Given the description of an element on the screen output the (x, y) to click on. 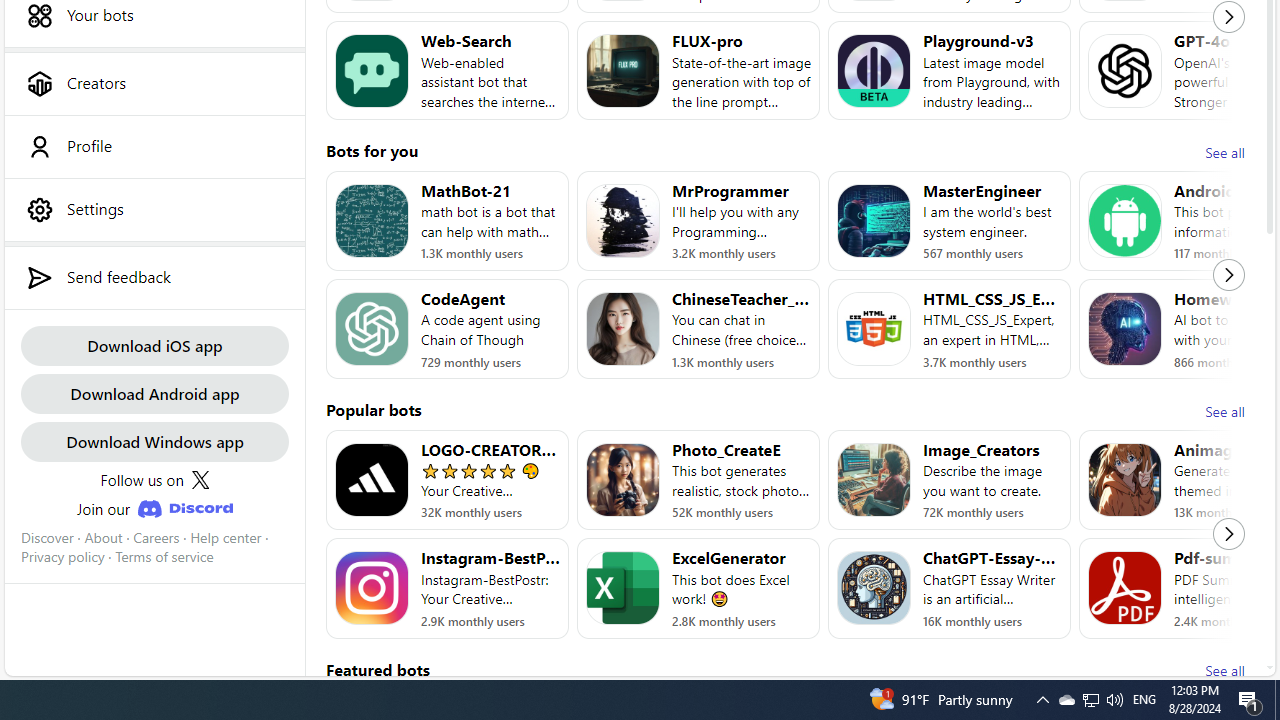
About (103, 537)
Bot image for Photo_CreateE (623, 480)
Download Android app (154, 392)
Bot image for FLUX-pro (623, 70)
Bot image for GPT-4o (1124, 70)
Join our (154, 508)
See all (1224, 670)
